Given the description of an element on the screen output the (x, y) to click on. 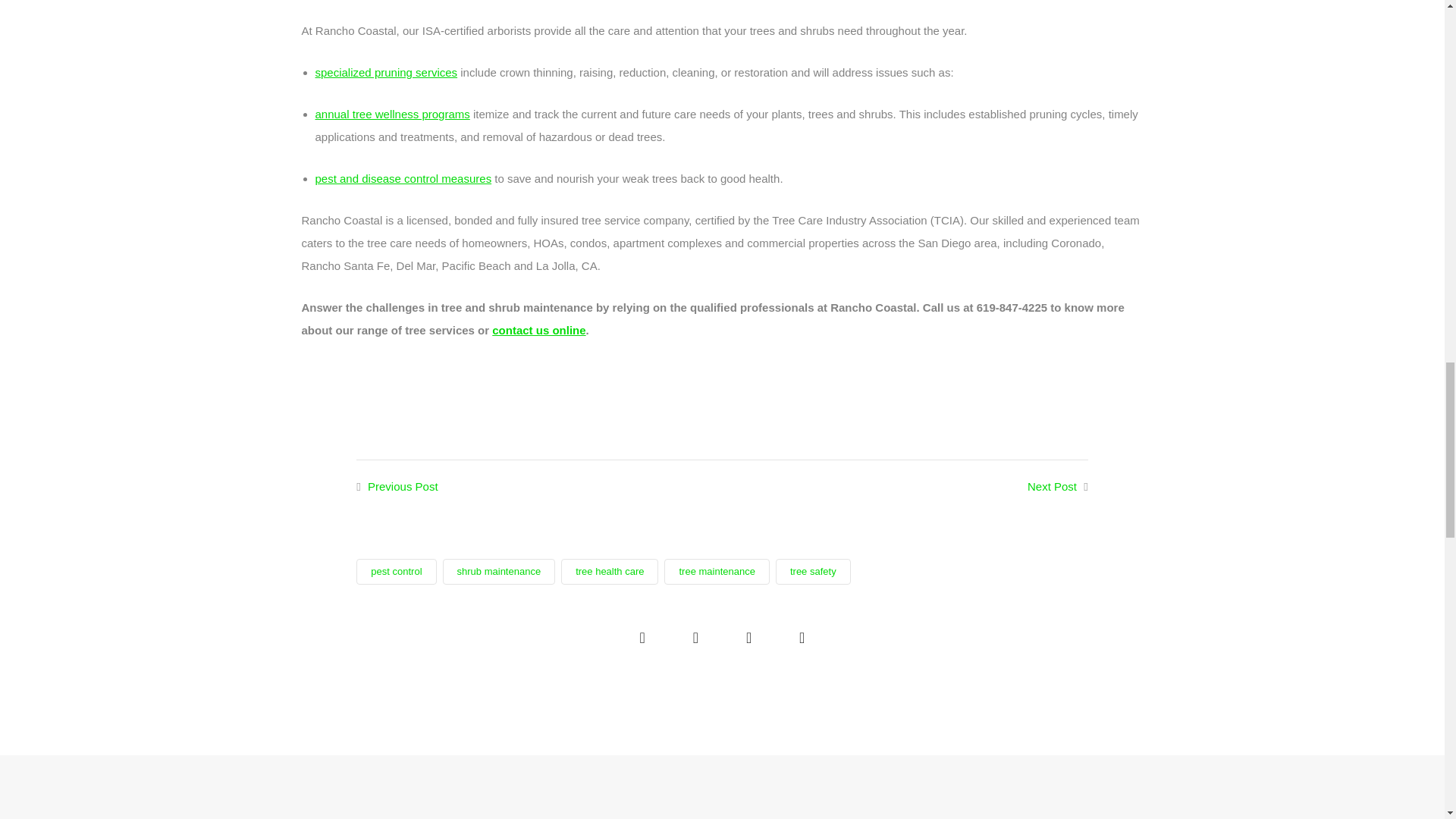
annual tree wellness programs (392, 113)
pest and disease control measures (403, 178)
pest control (395, 571)
shrub maintenance (499, 571)
Previous Post (403, 486)
Next Post (1052, 486)
specialized pruning services (386, 72)
tree health care (609, 571)
contact us online (538, 329)
